Given the description of an element on the screen output the (x, y) to click on. 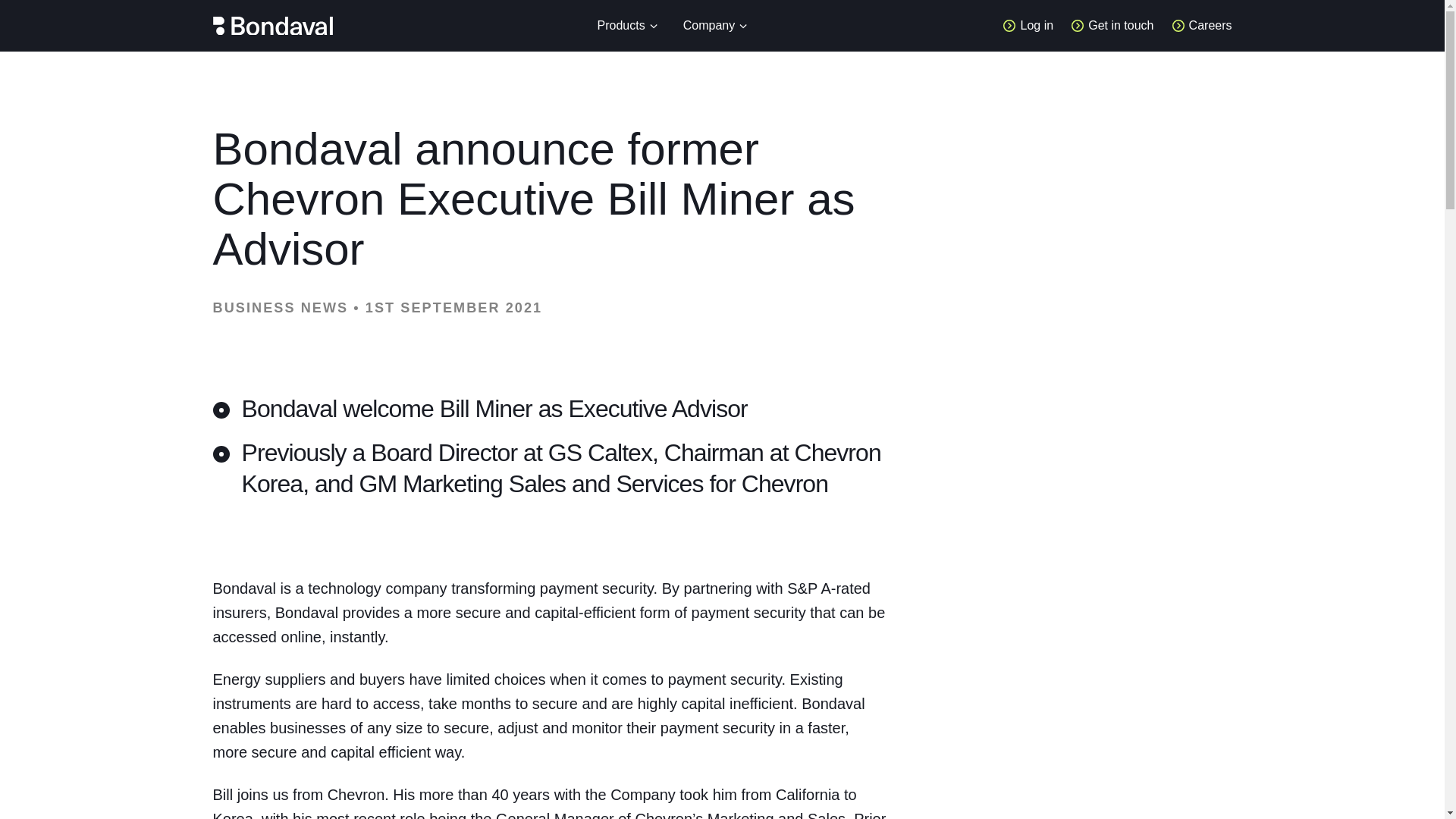
Get in touch (1112, 25)
Home (271, 26)
Careers (1201, 25)
Log in (1027, 25)
Products (627, 26)
Company (715, 26)
